Given the description of an element on the screen output the (x, y) to click on. 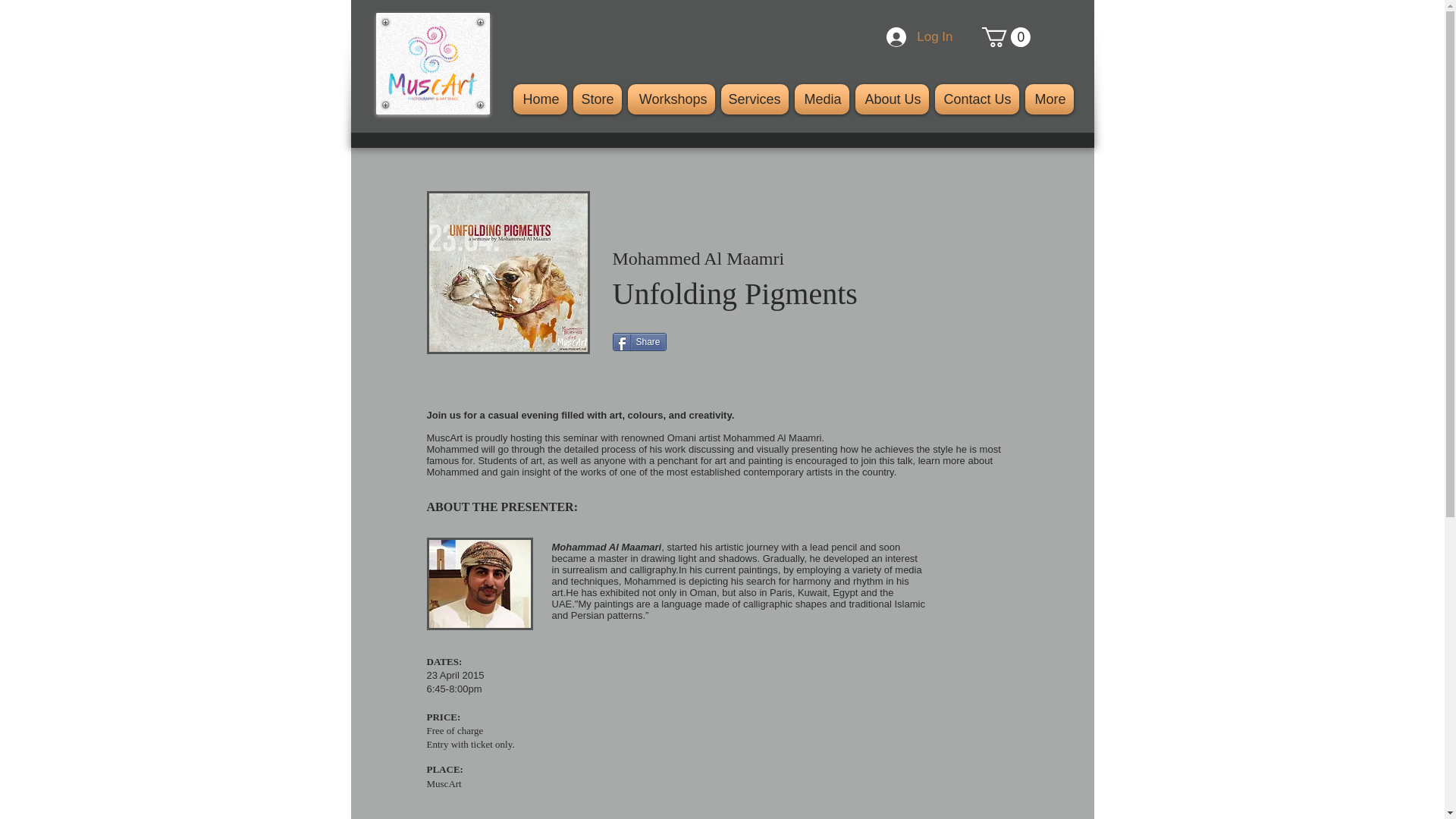
Twitter Tweet (711, 340)
Embedded Content (724, 809)
About Us (891, 99)
Share (639, 341)
Services (753, 99)
Share (639, 341)
Log In (919, 36)
09f116e.jpg (479, 583)
Contact Us (976, 99)
Unfolding Pigments - Mohammed Al Maamri (507, 271)
